Given the description of an element on the screen output the (x, y) to click on. 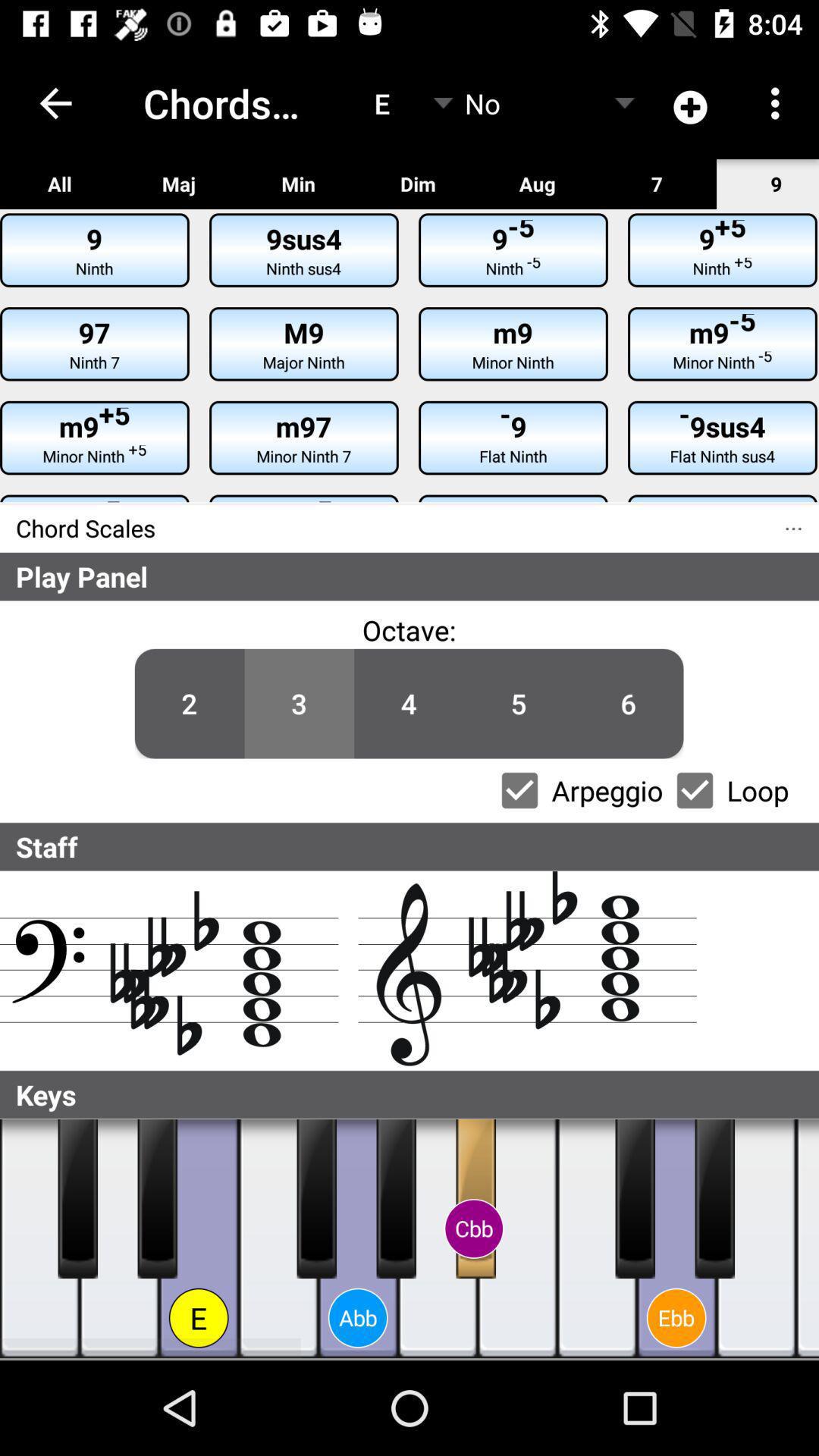
play key abb (358, 1238)
